Given the description of an element on the screen output the (x, y) to click on. 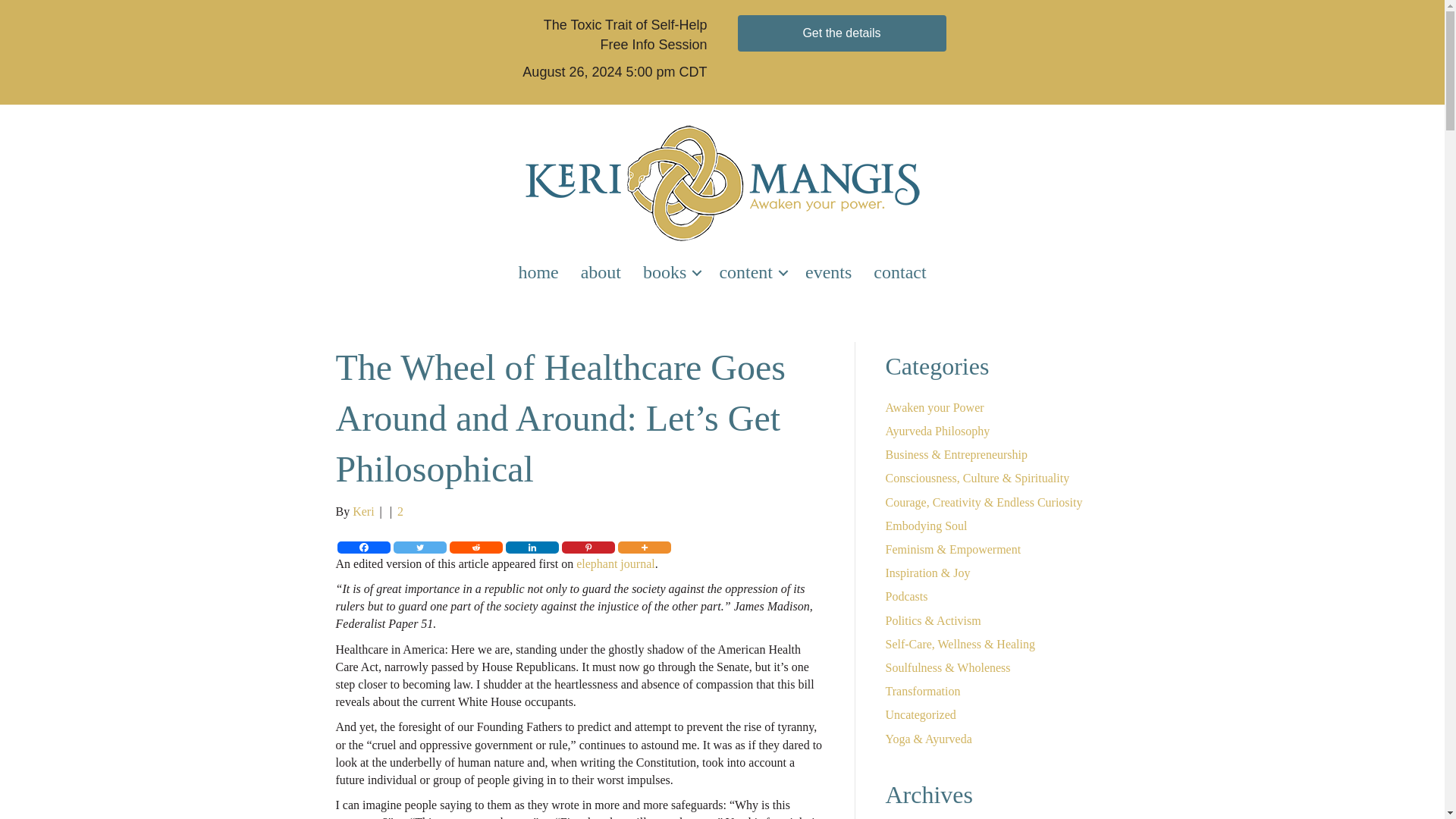
books (669, 272)
Facebook (363, 547)
Site Logo 550 (722, 183)
More (643, 547)
Keri (363, 511)
content (750, 272)
Pinterest (587, 547)
events (827, 272)
Twitter (419, 547)
elephant journal (615, 563)
